Given the description of an element on the screen output the (x, y) to click on. 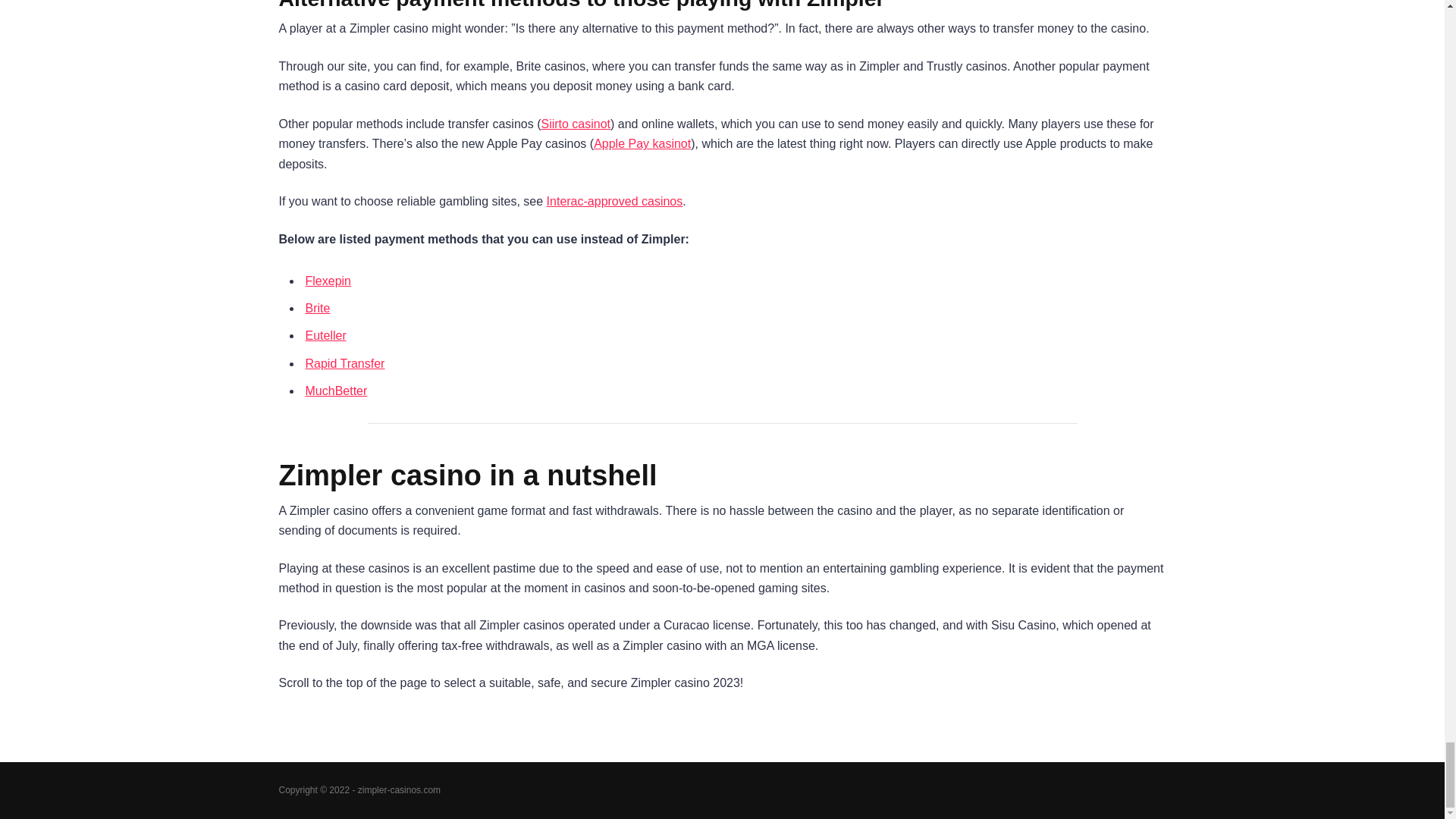
Brite (317, 308)
Euteller (325, 335)
Flexepin (327, 280)
MuchBetter (335, 390)
Apple Pay kasinot (642, 143)
Interac-approved casinos (614, 201)
Siirto casinot (575, 123)
Rapid Transfer (344, 363)
